Given the description of an element on the screen output the (x, y) to click on. 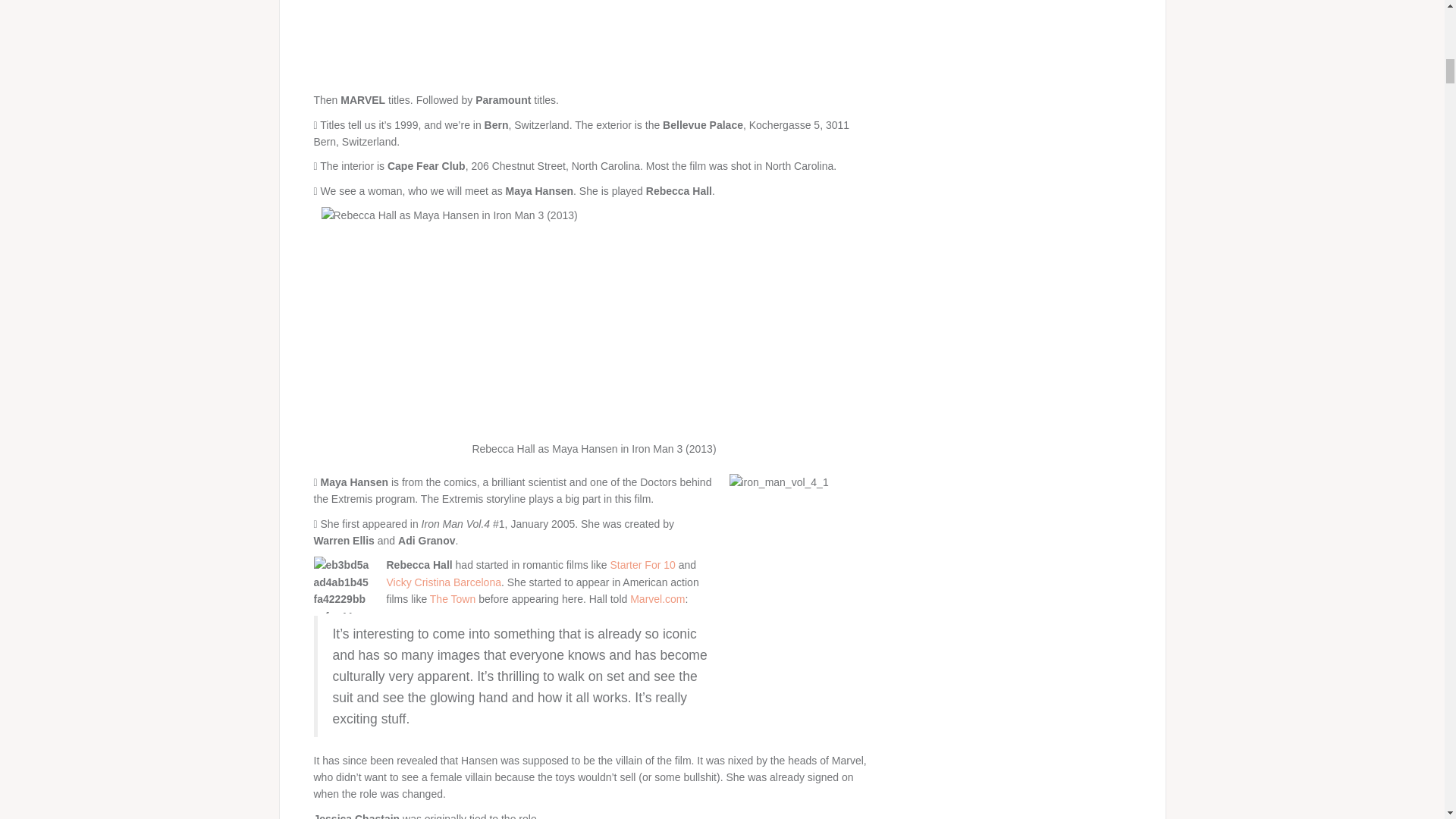
Vicky Cristina Barcelona (443, 582)
Starter For 10 (642, 564)
Marvel.com (657, 598)
The Town (452, 598)
